Given the description of an element on the screen output the (x, y) to click on. 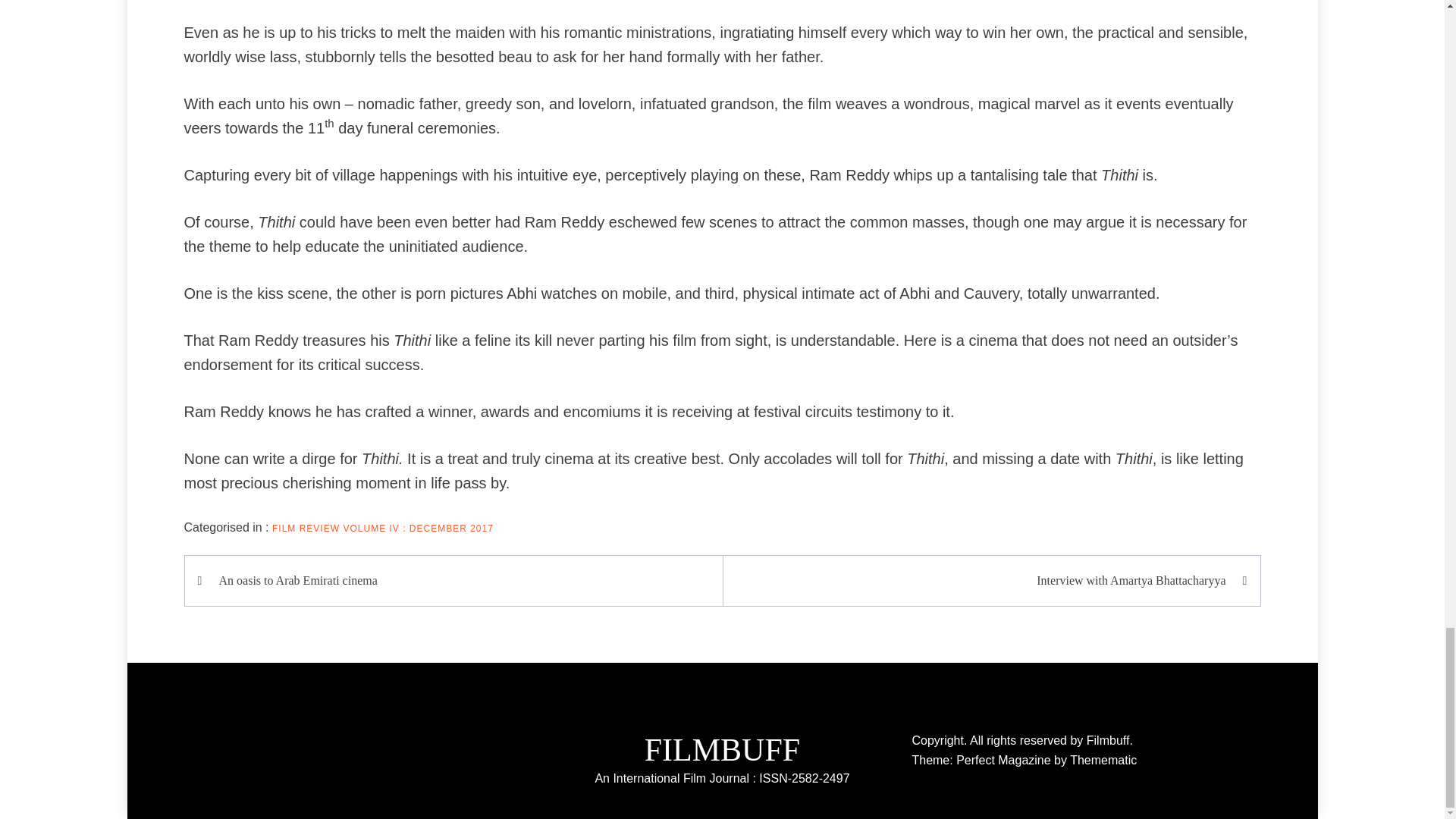
Perfect Magazine (1005, 759)
Interview with Amartya Bhattacharyya (982, 580)
FILMBUFF (722, 749)
Themematic (1103, 759)
FILM REVIEW (305, 528)
VOLUME IV : DECEMBER 2017 (417, 528)
An oasis to Arab Emirati cinema (461, 580)
